Given the description of an element on the screen output the (x, y) to click on. 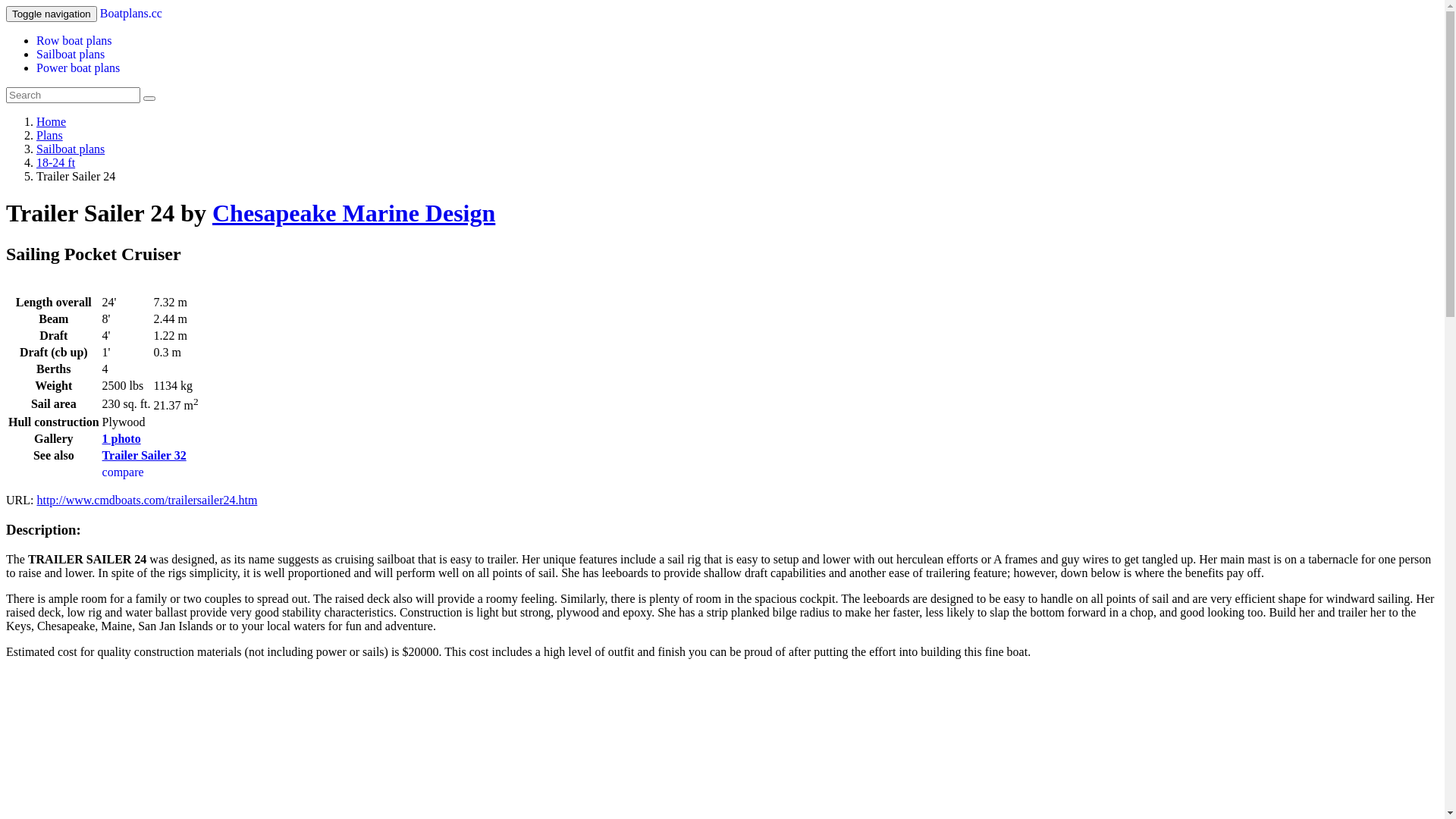
compare Element type: text (123, 471)
Home Element type: text (50, 121)
Sailboat plans Element type: text (70, 53)
18-24 ft Element type: text (55, 162)
Trailer Sailer 32 Element type: text (144, 454)
Boatplans.cc Element type: text (131, 12)
Plans Element type: text (49, 134)
Power boat plans Element type: text (77, 67)
Chesapeake Marine Design Element type: text (353, 212)
Sailboat plans Element type: text (70, 148)
1 photo Element type: text (121, 438)
Row boat plans Element type: text (74, 40)
http://www.cmdboats.com/trailersailer24.htm Element type: text (146, 499)
Toggle navigation Element type: text (51, 13)
